Given the description of an element on the screen output the (x, y) to click on. 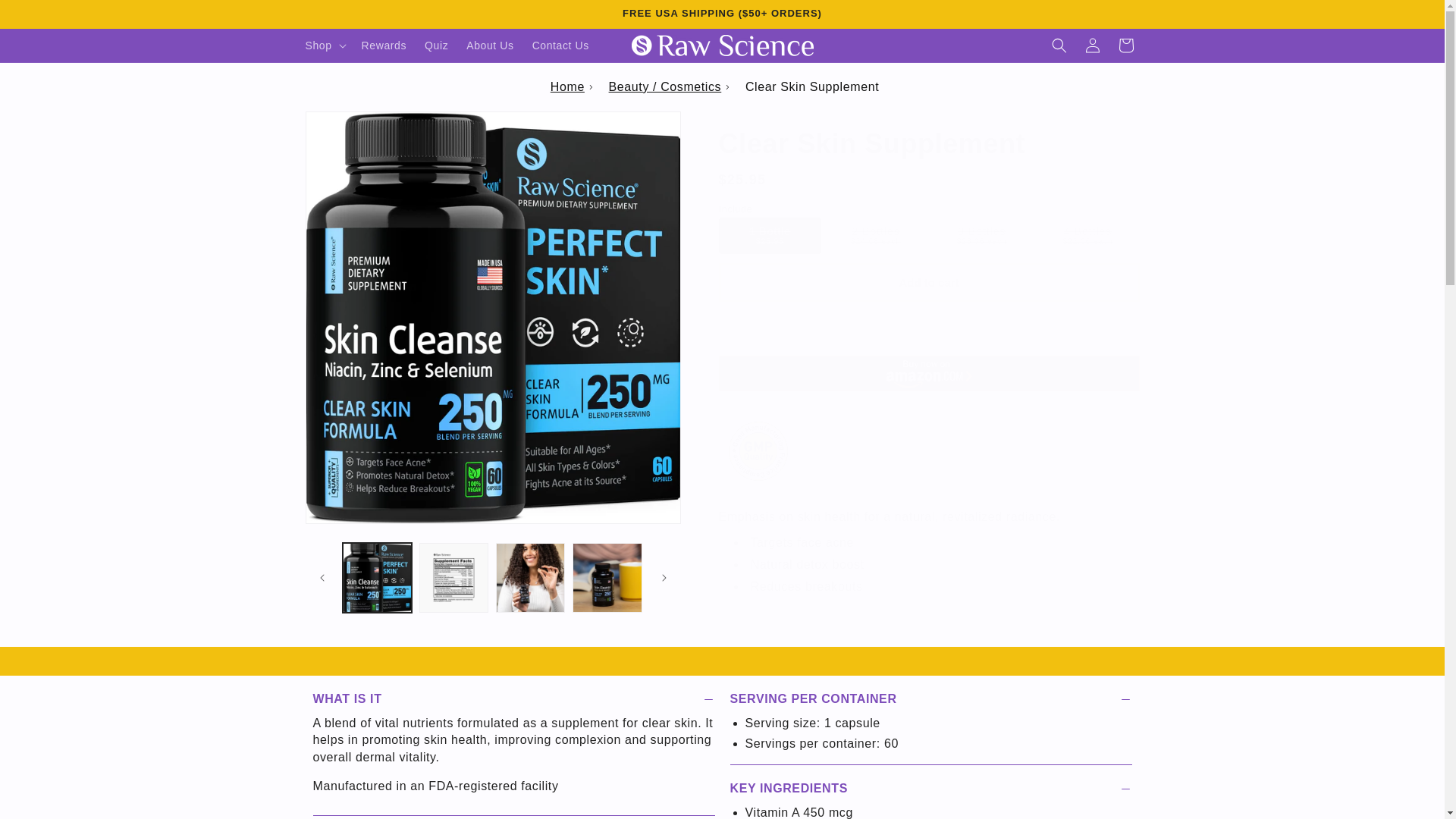
Skip to content (47, 18)
